Given the description of an element on the screen output the (x, y) to click on. 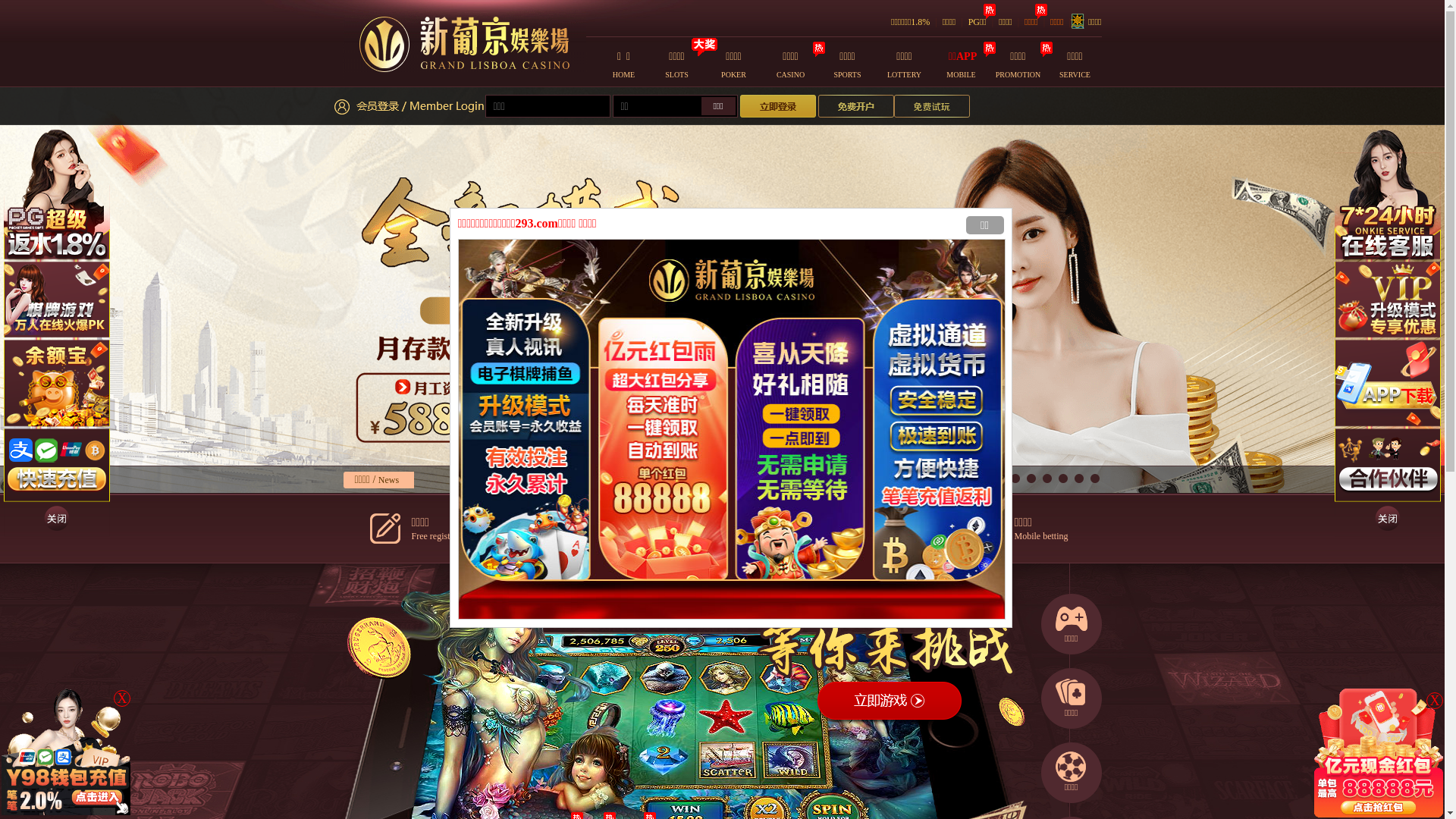
X Element type: text (1434, 700)
X Element type: text (121, 698)
